Given the description of an element on the screen output the (x, y) to click on. 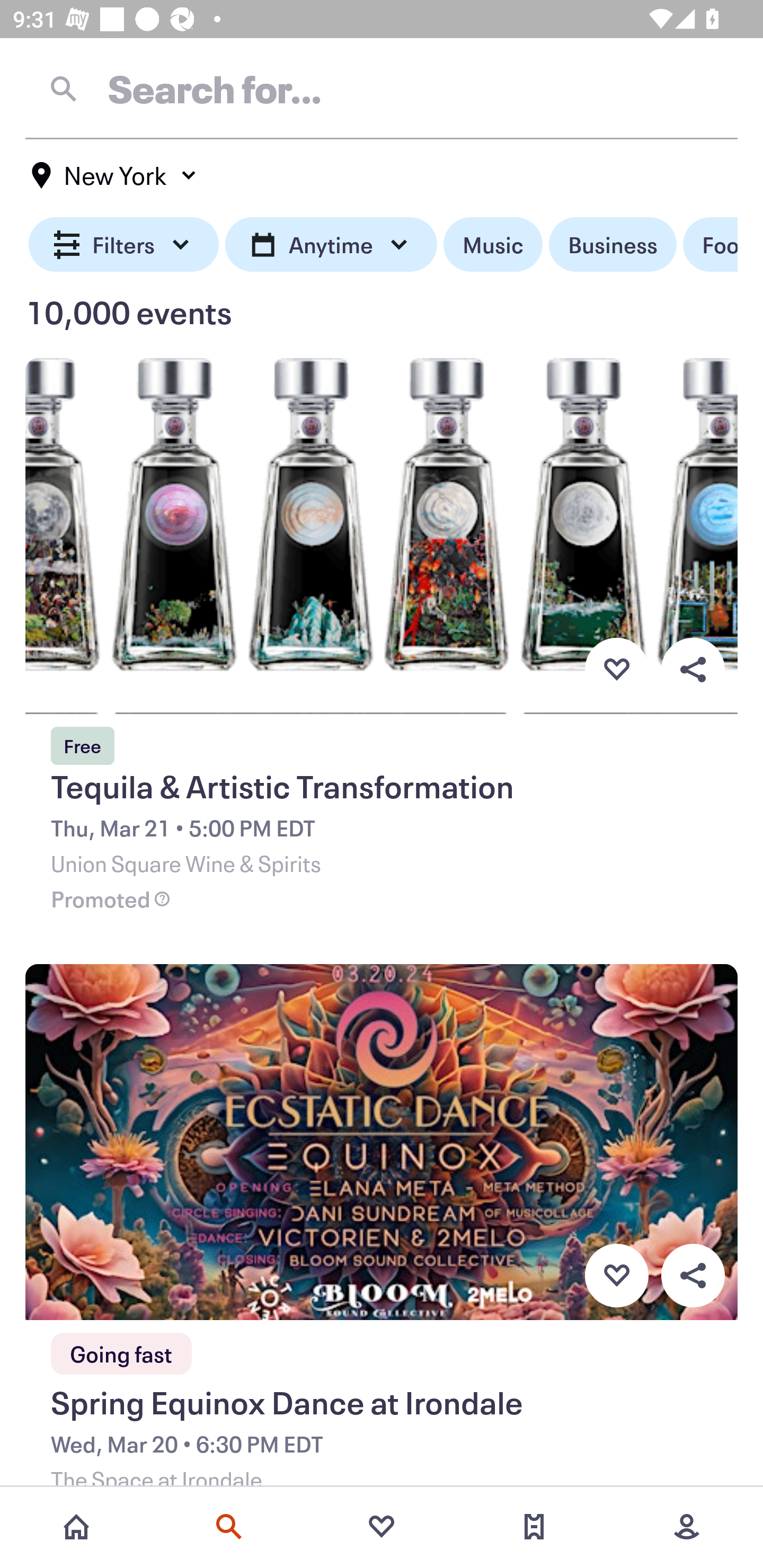
Search for… (381, 88)
New York (114, 175)
Filters (123, 244)
Anytime (331, 244)
Music (492, 244)
Business (612, 244)
Favorite button (616, 669)
Overflow menu button (692, 669)
Favorite button (616, 1275)
Overflow menu button (692, 1275)
Home (76, 1526)
Search events (228, 1526)
Favorites (381, 1526)
Tickets (533, 1526)
More (686, 1526)
